Given the description of an element on the screen output the (x, y) to click on. 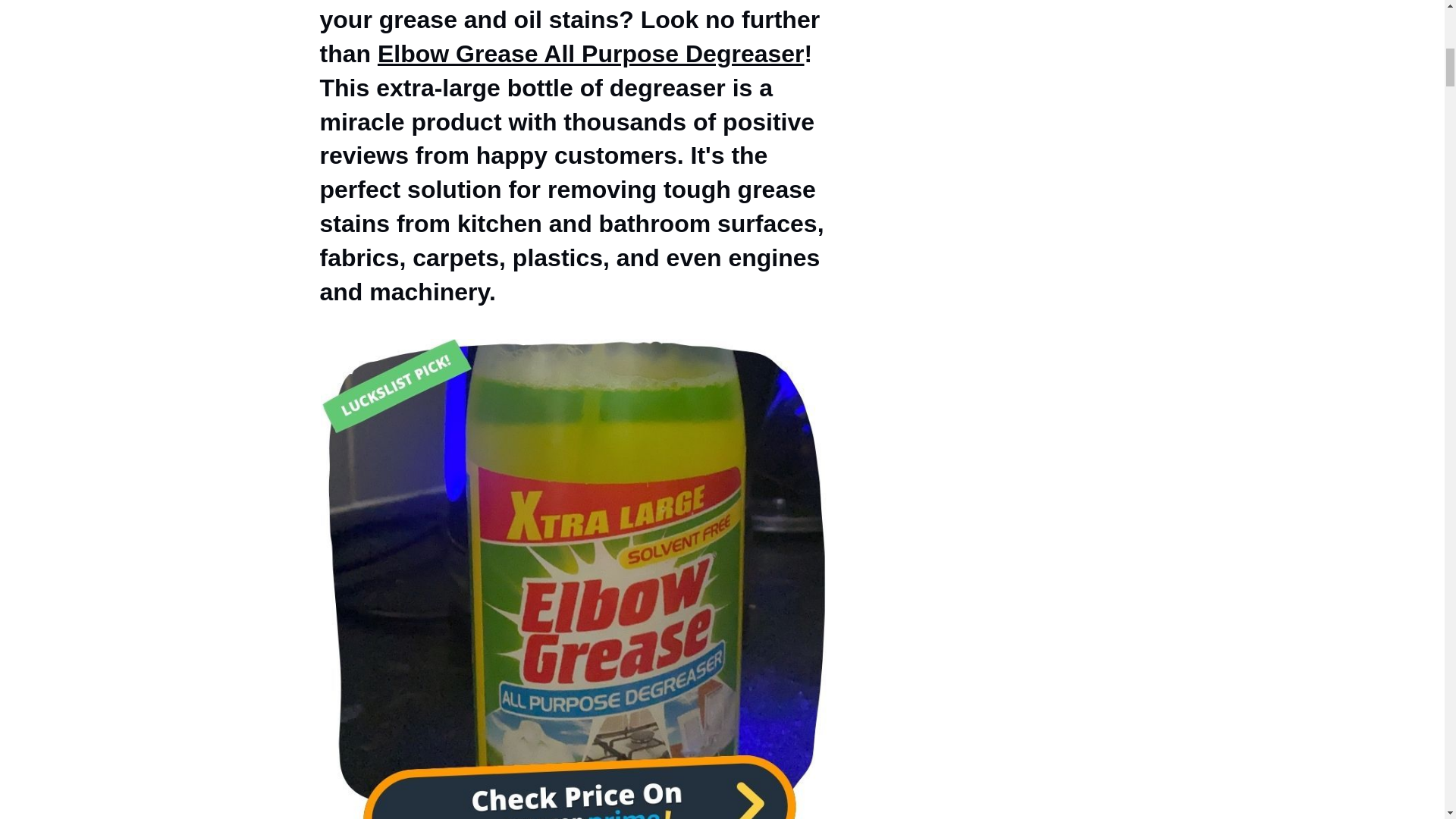
Elbow Grease All Purpose Degreaser (591, 53)
